Given the description of an element on the screen output the (x, y) to click on. 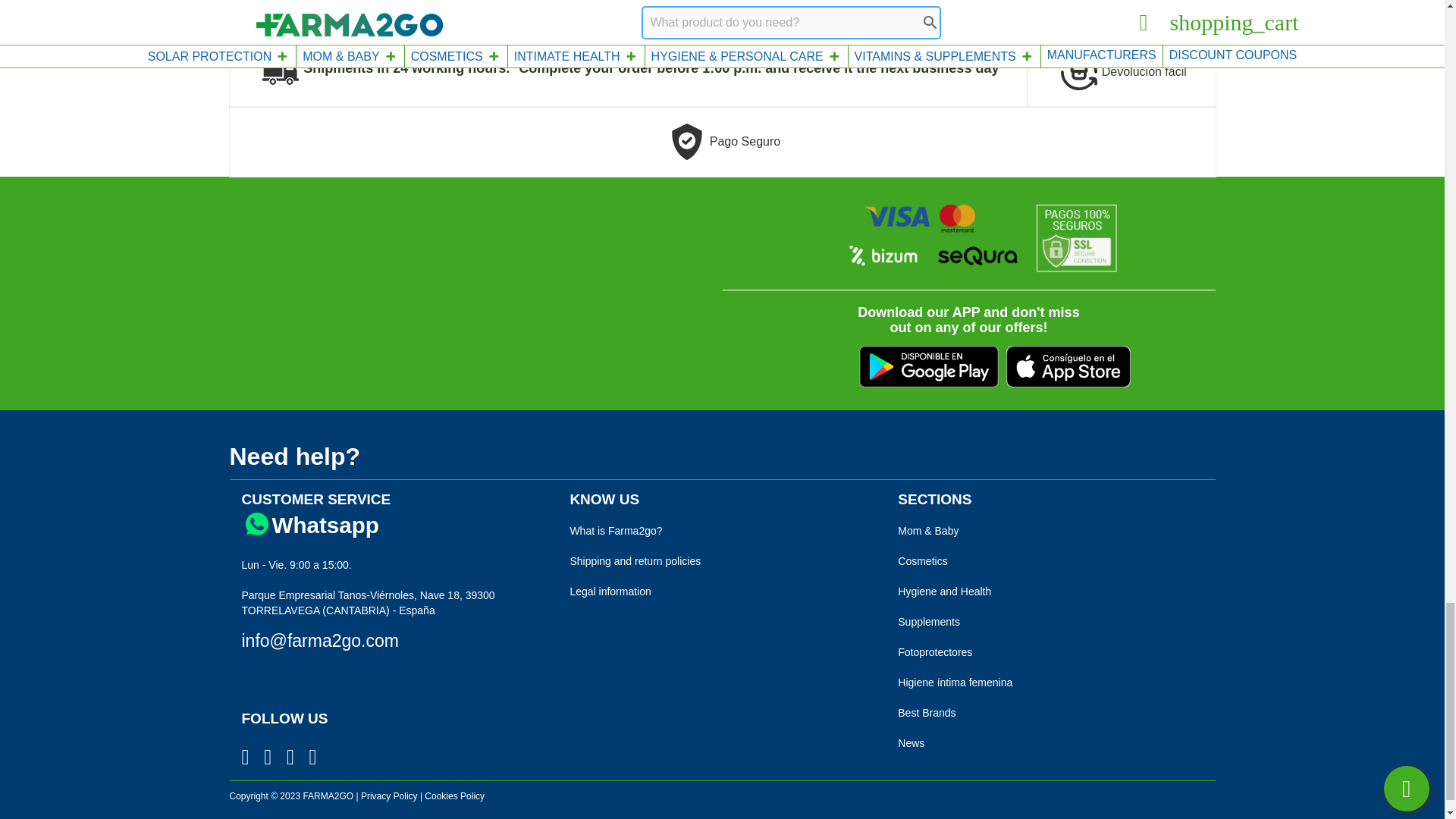
Download on google play (928, 366)
Download on App Store (1068, 366)
